Given the description of an element on the screen output the (x, y) to click on. 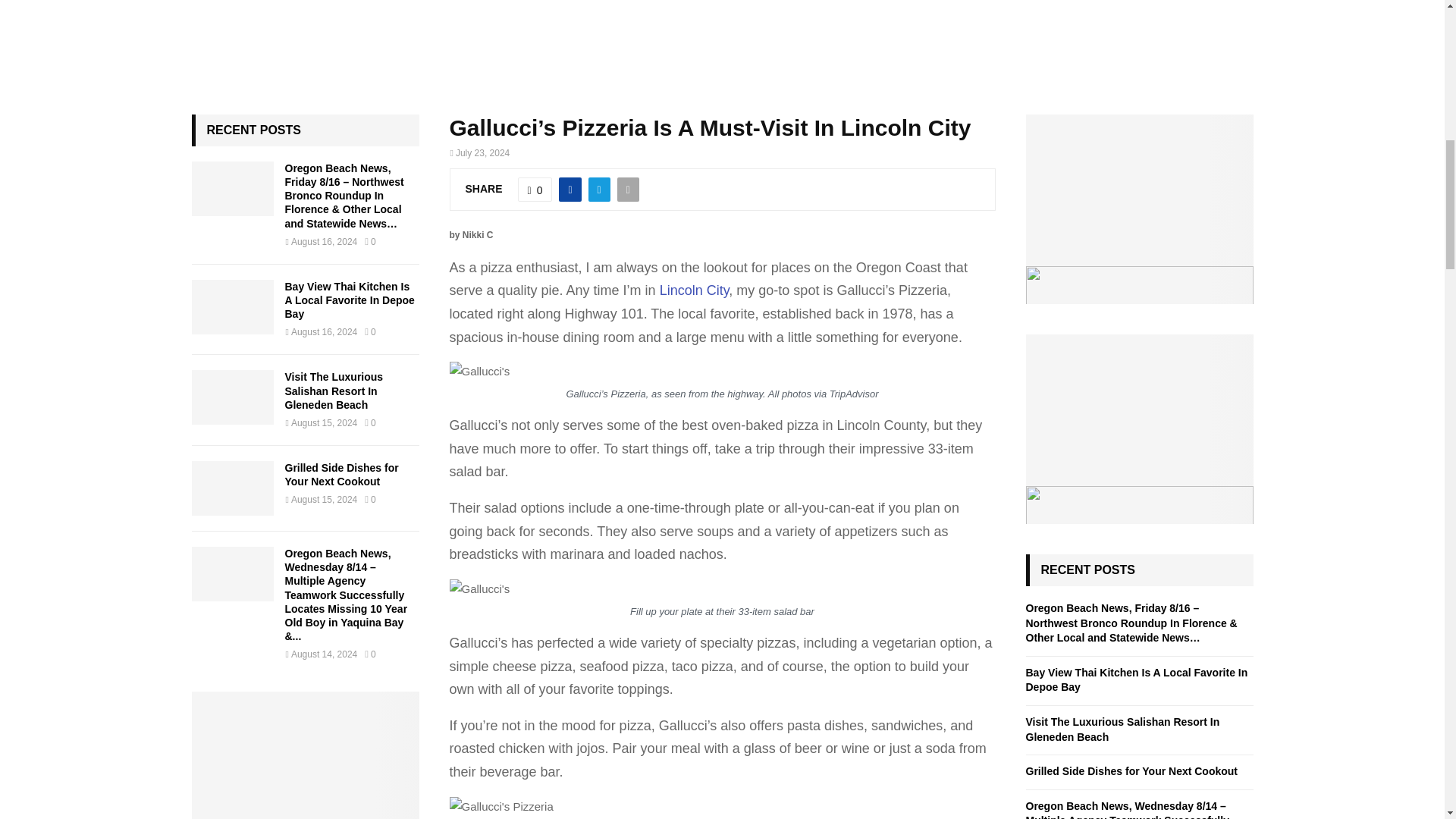
 Grilled Side Dishes for Your Next Cookout  (341, 474)
Visit The Luxurious Salishan Resort In Gleneden Beach (231, 397)
 Bay View Thai Kitchen Is A Local Favorite In Depoe Bay  (349, 300)
 Visit The Luxurious Salishan Resort In Gleneden Beach  (334, 390)
Like (535, 189)
Bay View Thai Kitchen Is A Local Favorite In Depoe Bay (231, 307)
Grilled Side Dishes for Your Next Cookout (231, 488)
